Given the description of an element on the screen output the (x, y) to click on. 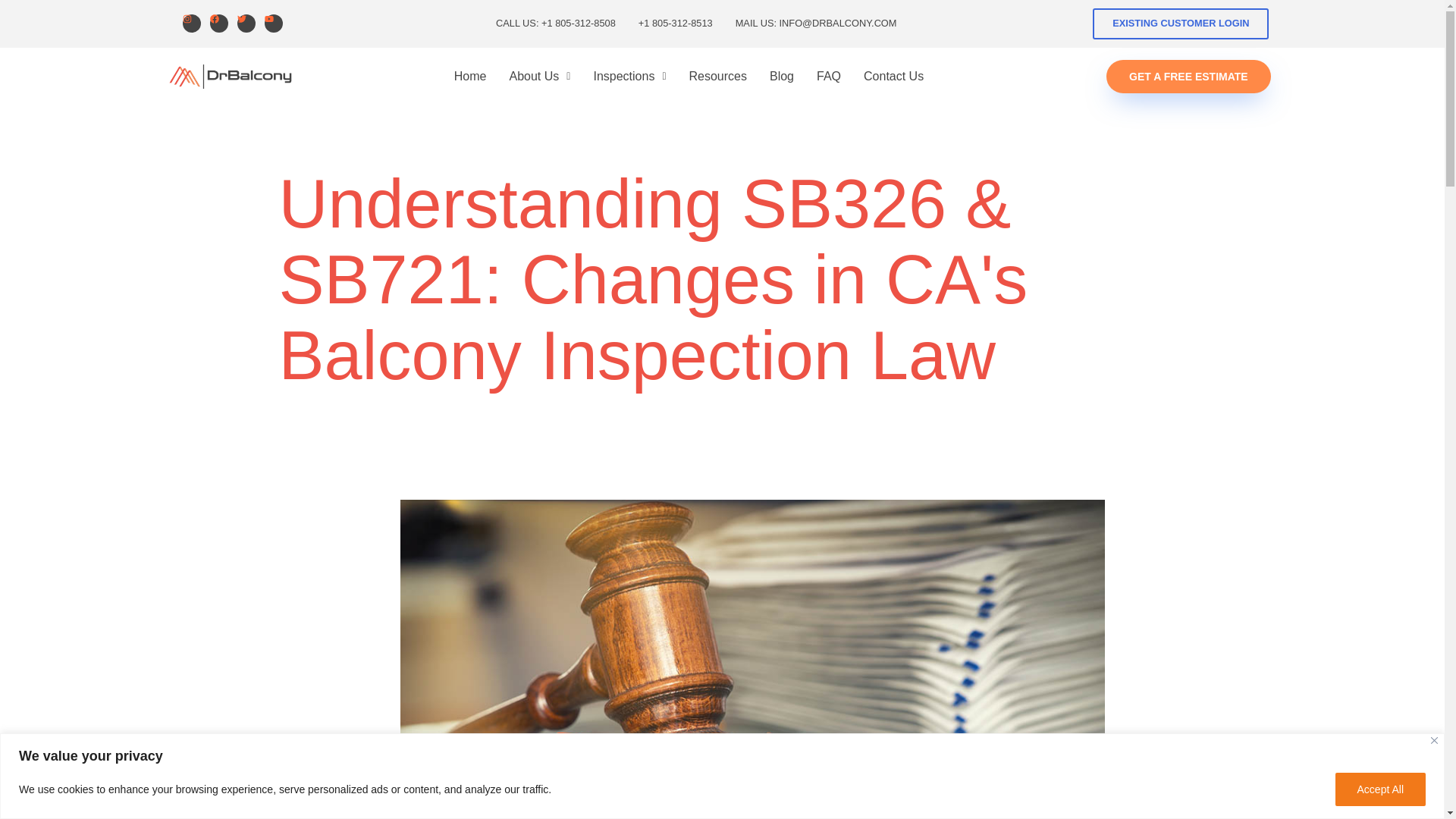
Contact Us (892, 76)
GET A FREE ESTIMATE (1188, 76)
Resources (718, 76)
Home (469, 76)
Inspections (628, 76)
About Us (538, 76)
EXISTING CUSTOMER LOGIN (1180, 23)
Accept All (1380, 788)
Blog (781, 76)
FAQ (828, 76)
